Given the description of an element on the screen output the (x, y) to click on. 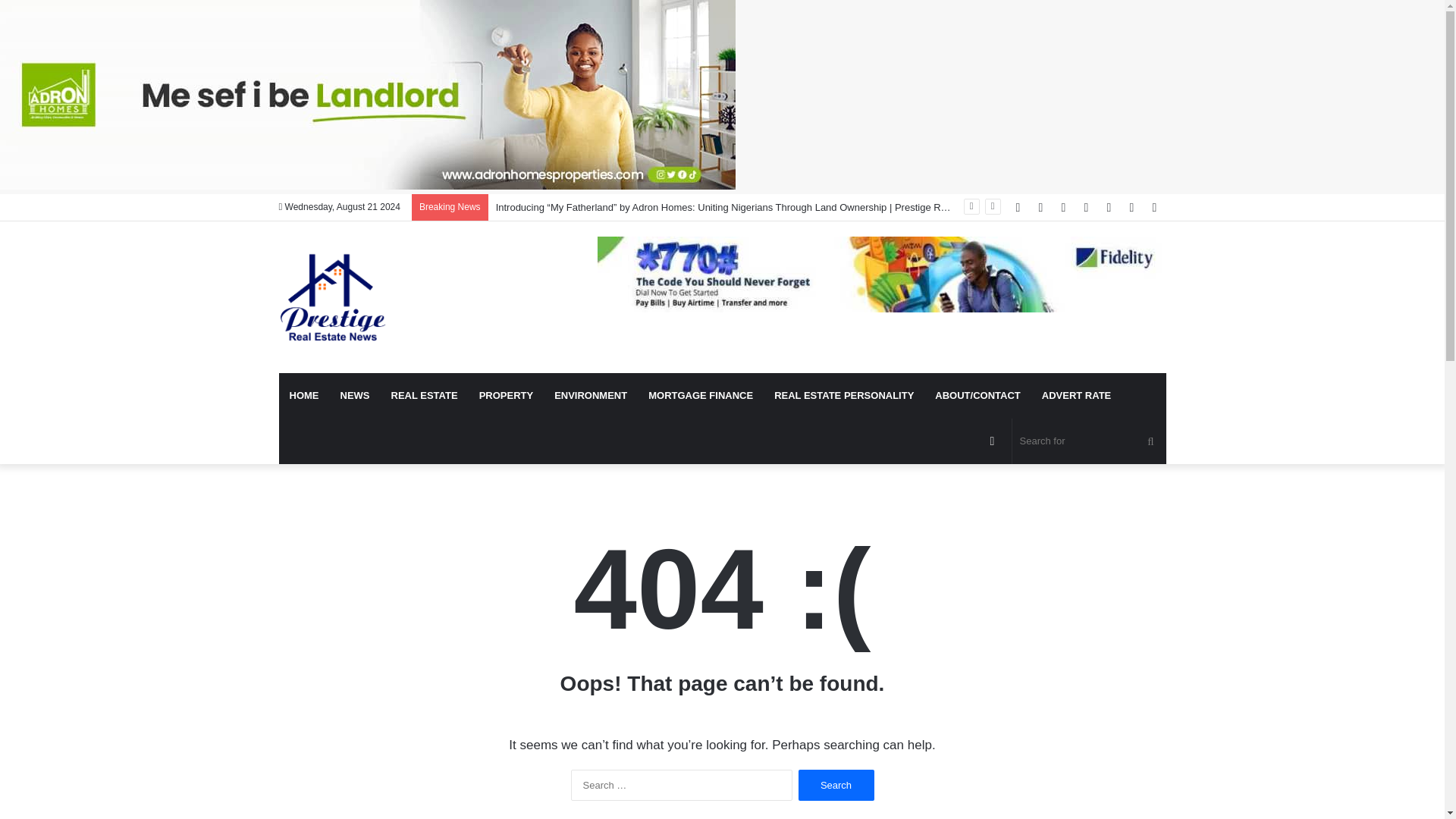
Prestige Real Estate News (333, 297)
HOME (304, 395)
ADVERT RATE (1075, 395)
PROPERTY (506, 395)
Search for (1088, 441)
NEWS (354, 395)
REAL ESTATE (424, 395)
Search (835, 784)
Search (835, 784)
ENVIRONMENT (590, 395)
